Given the description of an element on the screen output the (x, y) to click on. 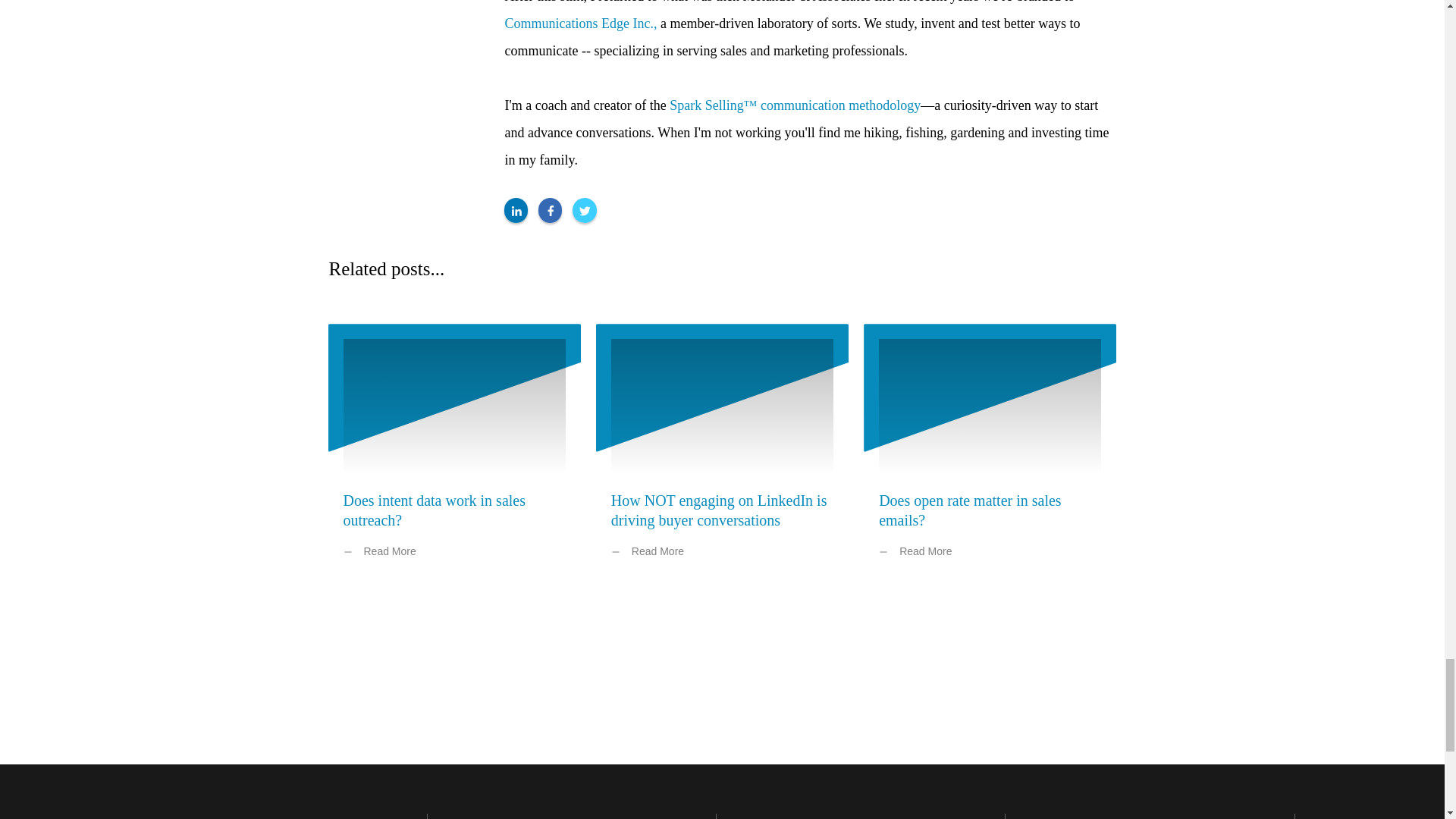
How NOT engaging on LinkedIn is driving buyer conversations (719, 510)
Does intent data work in sales outreach? (433, 510)
Communications Edge Inc., (581, 23)
Does open rate matter in sales emails? (970, 510)
